Given the description of an element on the screen output the (x, y) to click on. 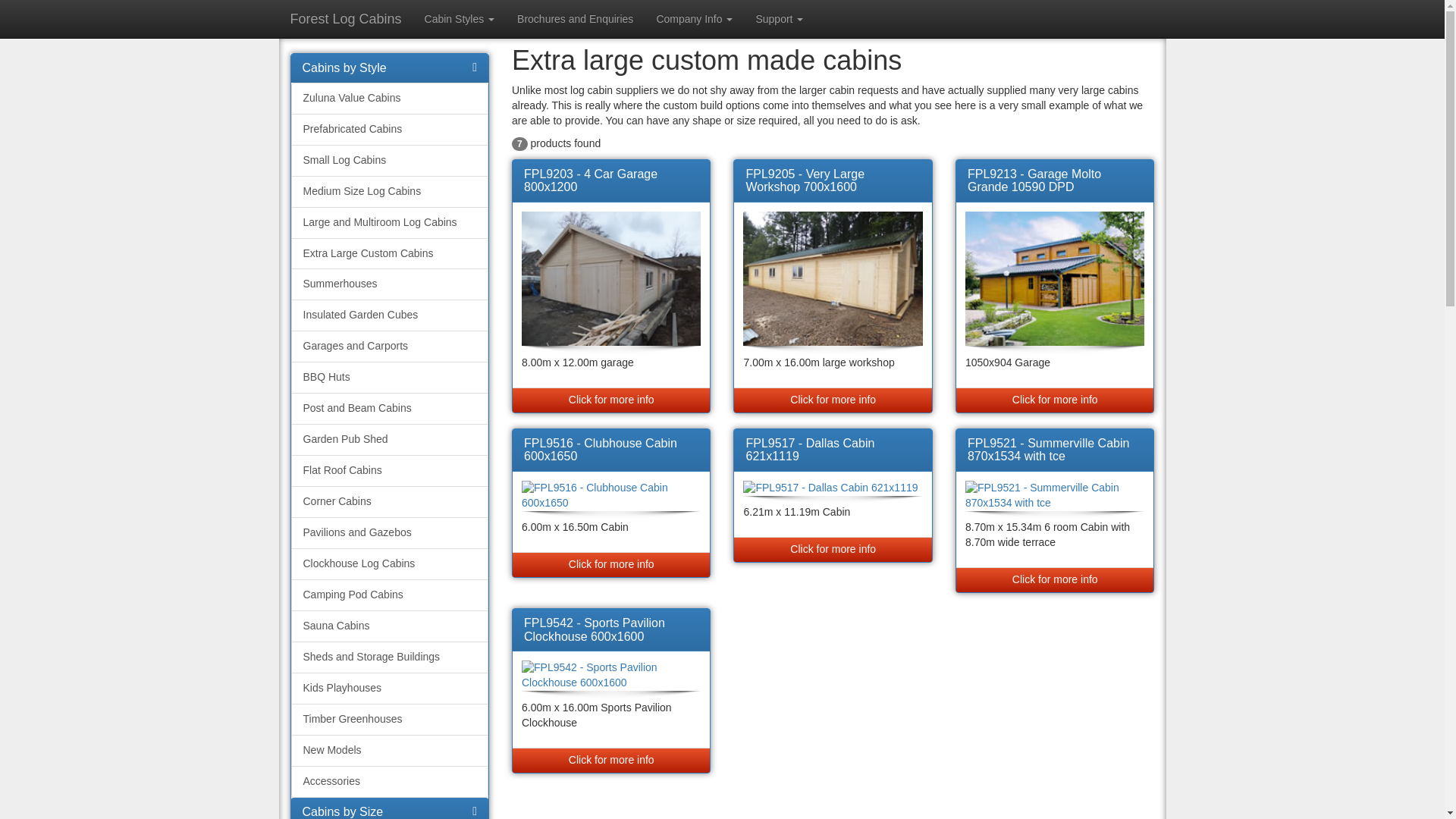
Cabin Styles (459, 18)
Forest Log Cabins (346, 18)
Company Info (694, 18)
Brochures and Enquiries (575, 18)
Cabin Styles (459, 18)
